Given the description of an element on the screen output the (x, y) to click on. 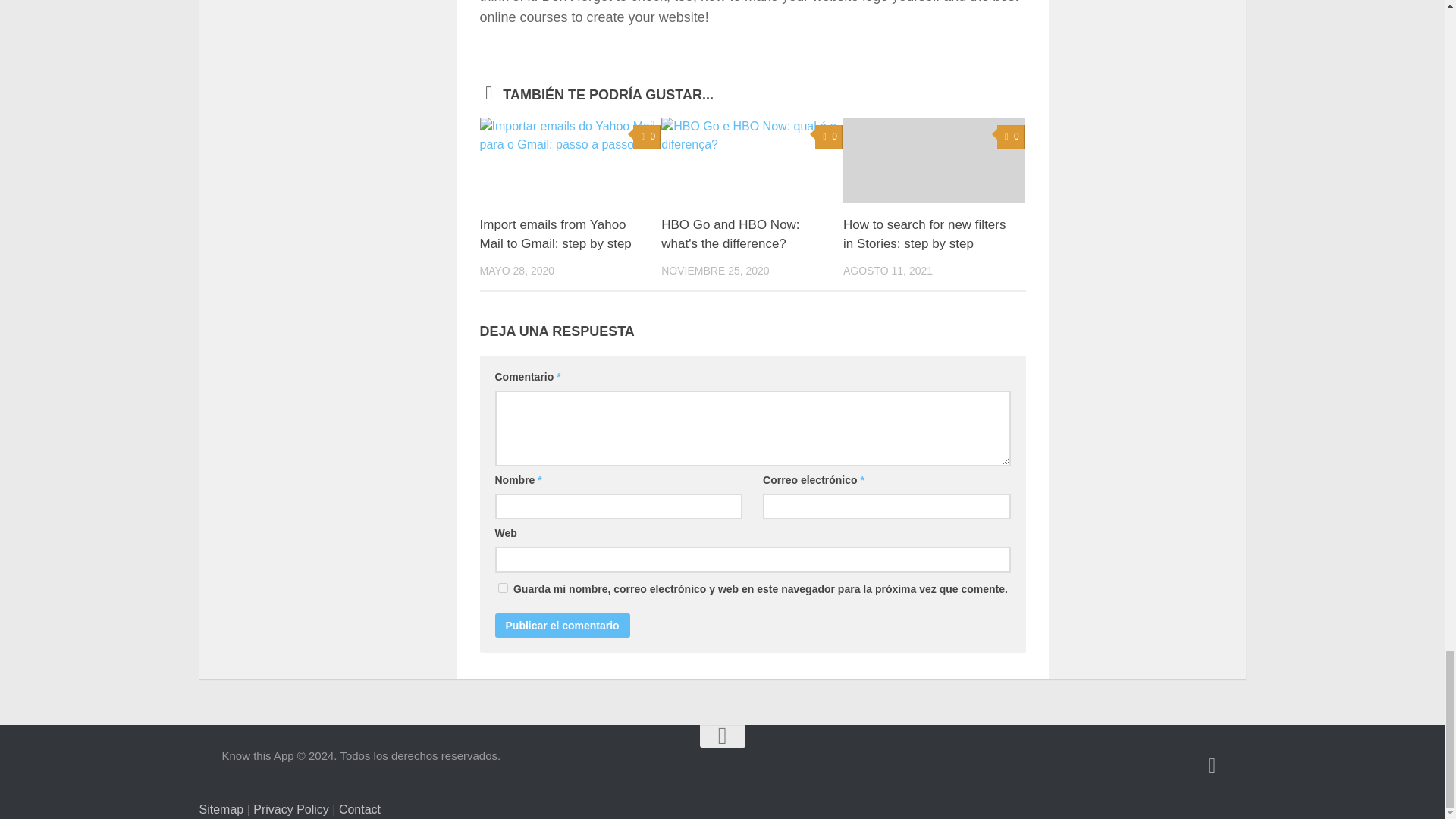
0 (1011, 136)
Import emails from Yahoo Mail to Gmail: step by step (554, 234)
Publicar el comentario (561, 625)
0 (647, 136)
HBO Go and HBO Now: what's the difference? (730, 234)
yes (501, 587)
Publicar el comentario (561, 625)
0 (829, 136)
How to search for new filters in Stories: step by step (924, 234)
